Given the description of an element on the screen output the (x, y) to click on. 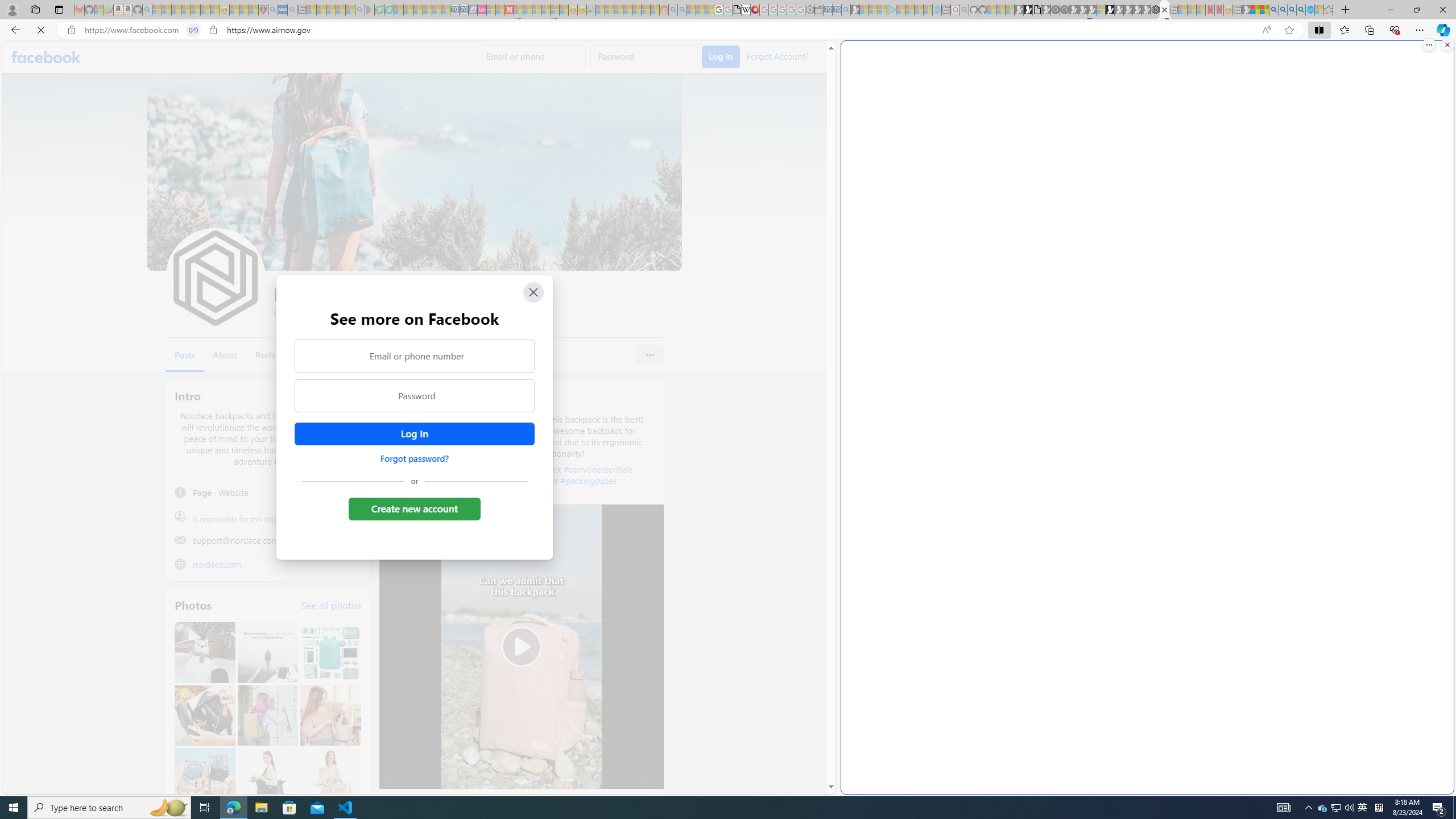
utah sues federal government - Search - Sleeping (291, 9)
Create new account (413, 508)
Target page - Wikipedia (745, 9)
Pets - MSN - Sleeping (340, 9)
New Report Confirms 2023 Was Record Hot | Watch - Sleeping (195, 9)
Wallet - Sleeping (818, 9)
Recipes - MSN - Sleeping (234, 9)
Utah sues federal government - Search - Sleeping (681, 9)
